Given the description of an element on the screen output the (x, y) to click on. 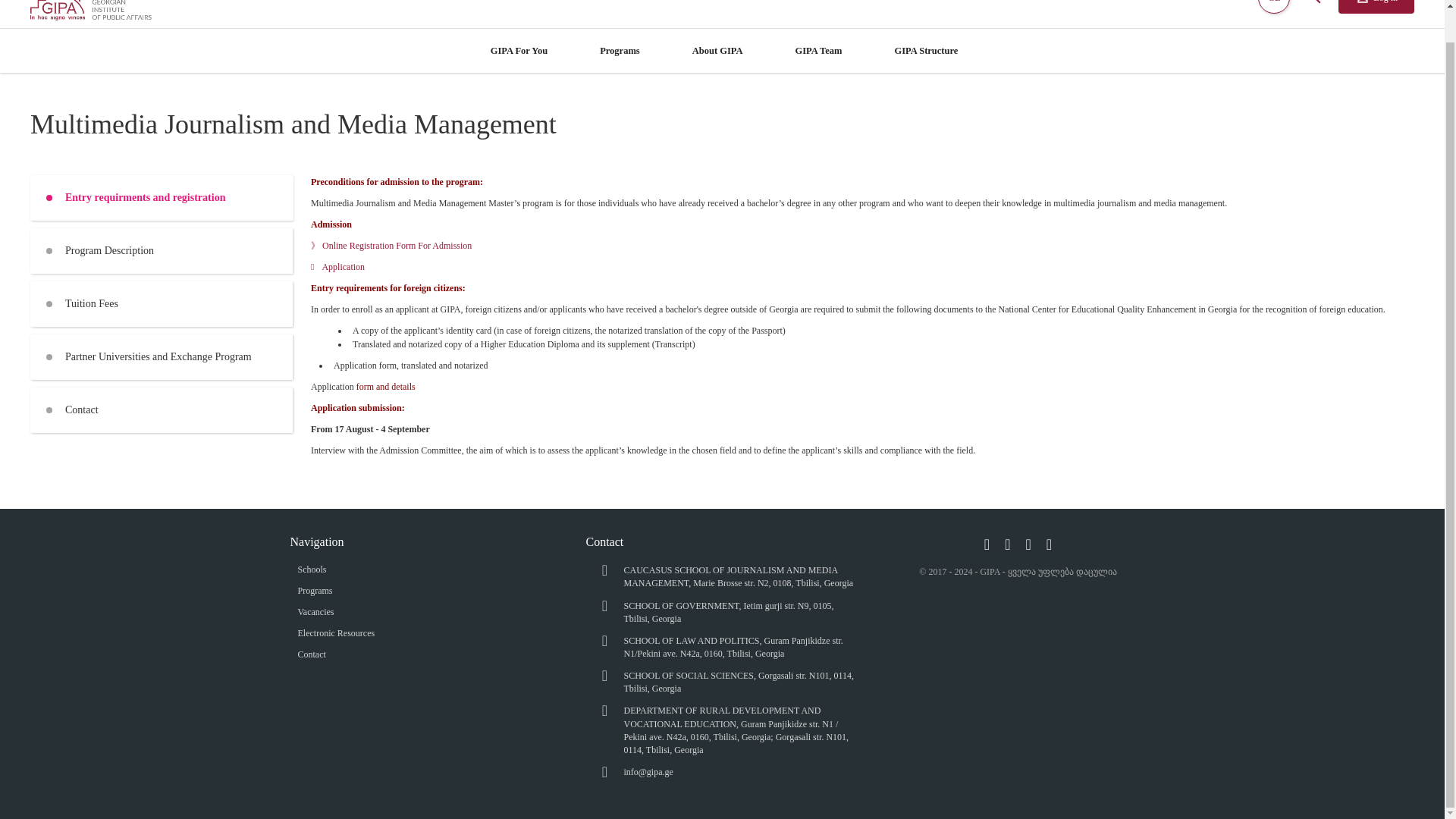
Log in (1375, 6)
GE (1273, 6)
Log in (1375, 6)
GEO (1273, 6)
